Given the description of an element on the screen output the (x, y) to click on. 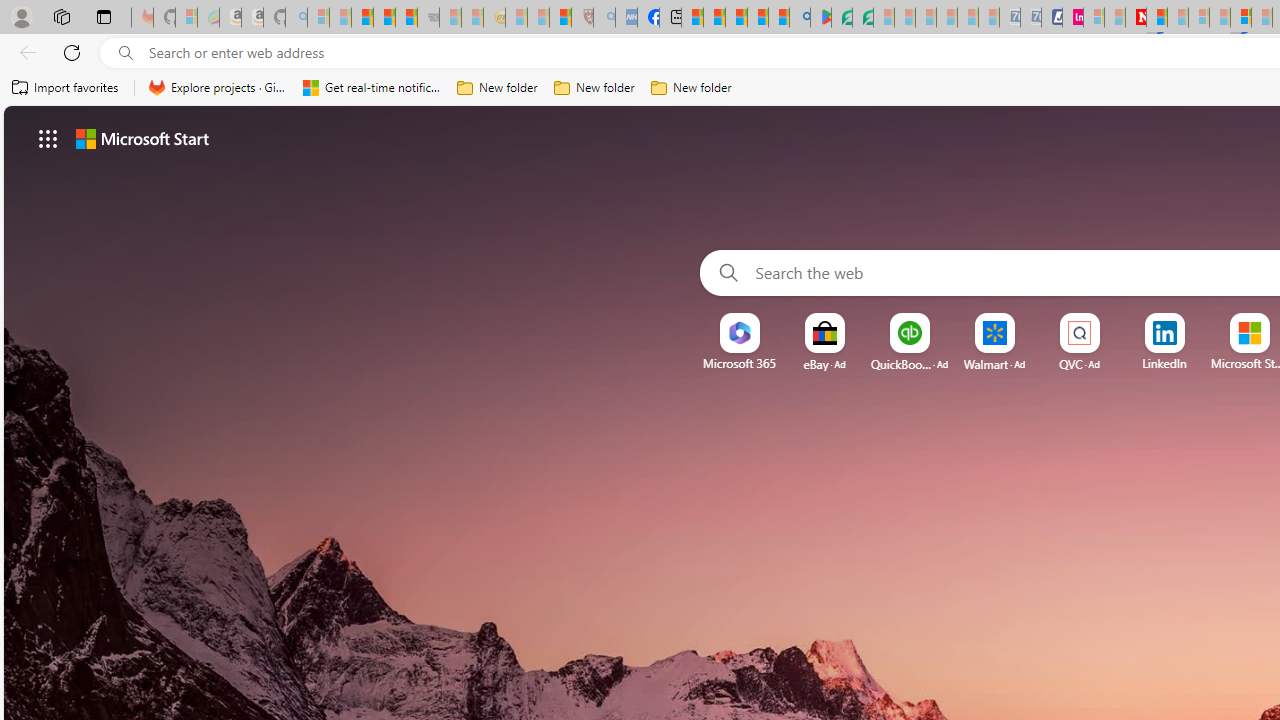
Import favorites (65, 88)
Microsoft Word - consumer-privacy address update 2.2021 (862, 17)
The Weather Channel - MSN (362, 17)
Offline games - Android Apps on Google Play (820, 17)
